Given the description of an element on the screen output the (x, y) to click on. 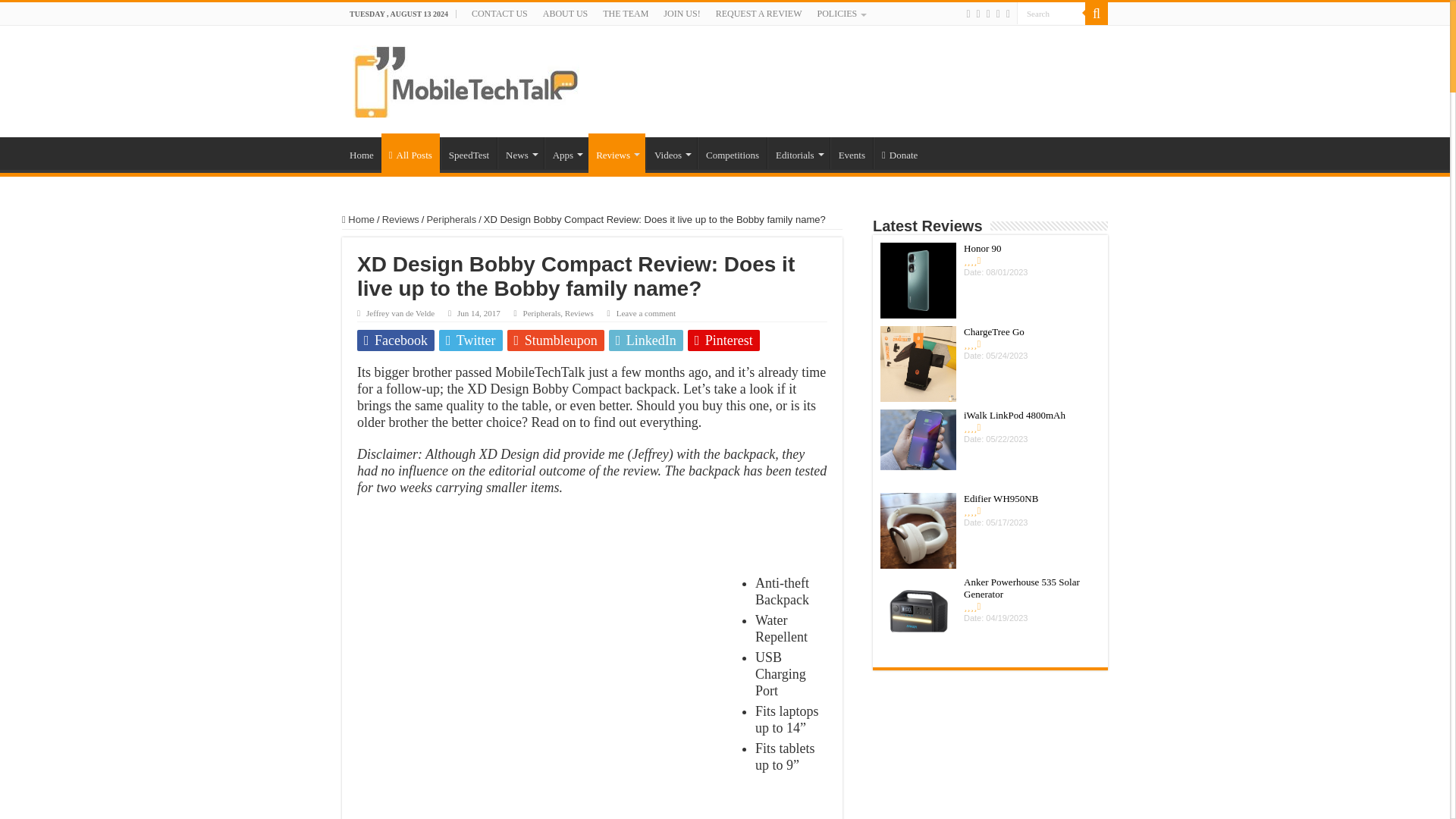
All Posts (410, 152)
Home (361, 152)
Search (1050, 13)
Search (1096, 13)
CONTACT US (499, 13)
THE TEAM (625, 13)
Search (1050, 13)
REQUEST A REVIEW (758, 13)
Search (1050, 13)
SpeedTest (468, 152)
